Given the description of an element on the screen output the (x, y) to click on. 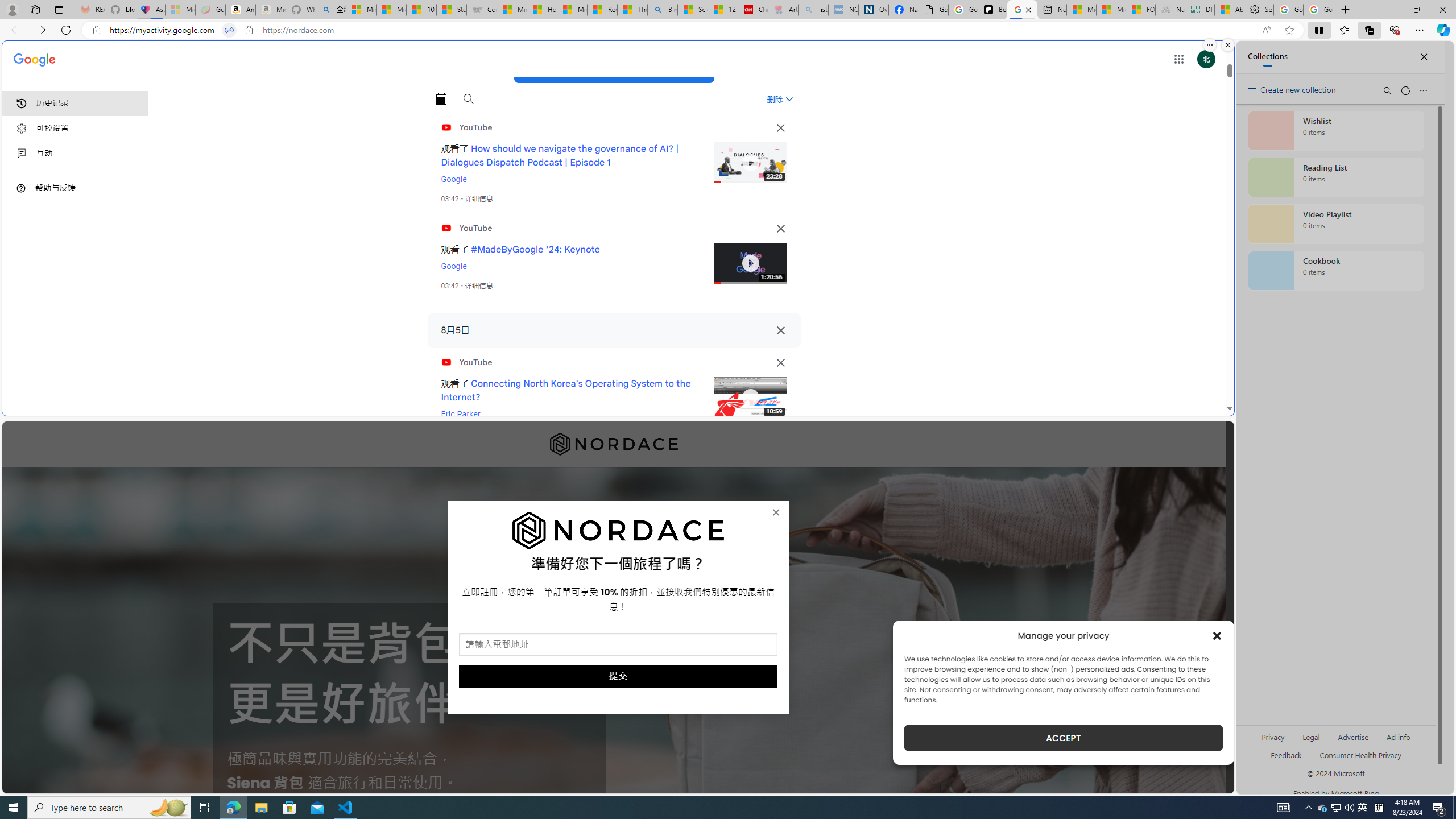
Class: i2GIId (21, 153)
AutomationID: sb_feedback (1286, 754)
Tabs in split screen (228, 29)
